Given the description of an element on the screen output the (x, y) to click on. 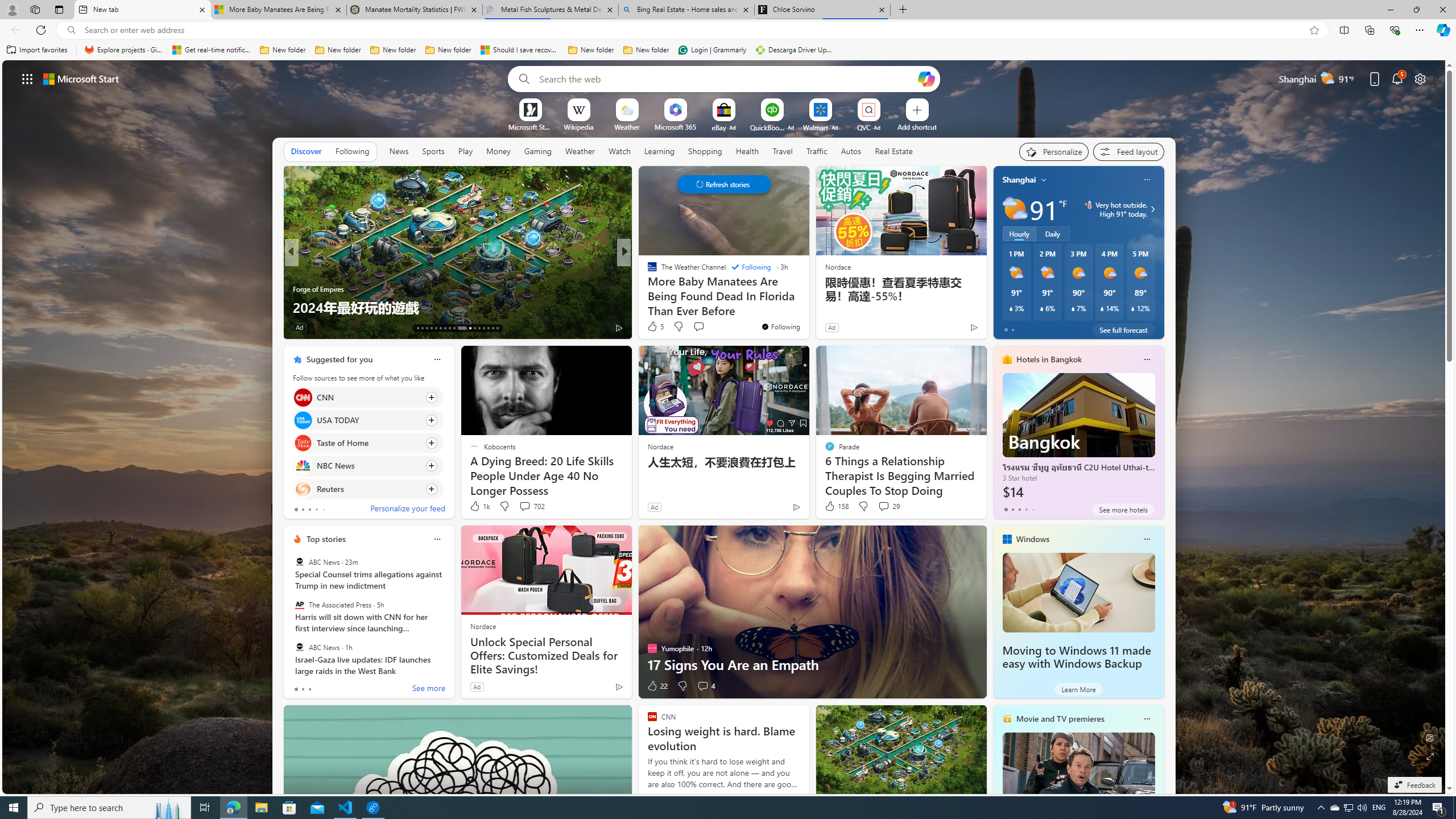
Discover (306, 151)
Gaming (537, 151)
tab-0 (295, 689)
ETNT Mind+Body (647, 270)
Shanghai (1018, 179)
Dislike (682, 685)
View comments 6 Comment (705, 327)
Hourly (1018, 233)
Don't Use an Ordinary Backpack (807, 307)
Favorites bar (728, 49)
Click to follow source Reuters (367, 488)
AutomationID: tab-16 (431, 328)
